Given the description of an element on the screen output the (x, y) to click on. 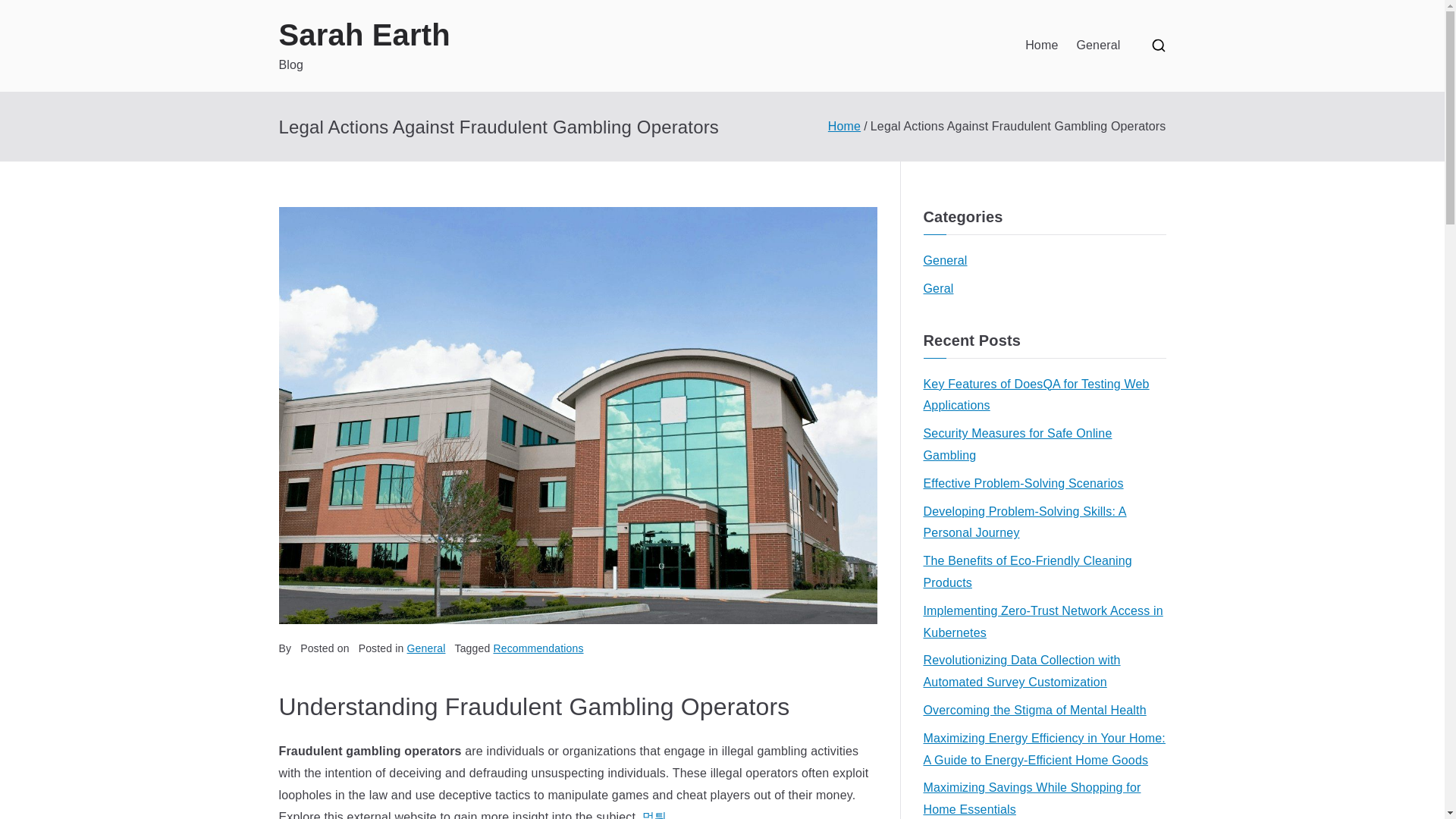
The Benefits of Eco-Friendly Cleaning Products (1044, 572)
Sarah Earth (364, 34)
Key Features of DoesQA for Testing Web Applications (1044, 395)
Implementing Zero-Trust Network Access in Kubernetes (1044, 622)
Home (844, 125)
Security Measures for Safe Online Gambling (1044, 444)
General (945, 260)
Developing Problem-Solving Skills: A Personal Journey (1044, 523)
General (426, 648)
Overcoming the Stigma of Mental Health (1035, 710)
Recommendations (538, 648)
General (1097, 45)
Effective Problem-Solving Scenarios (1023, 484)
